Given the description of an element on the screen output the (x, y) to click on. 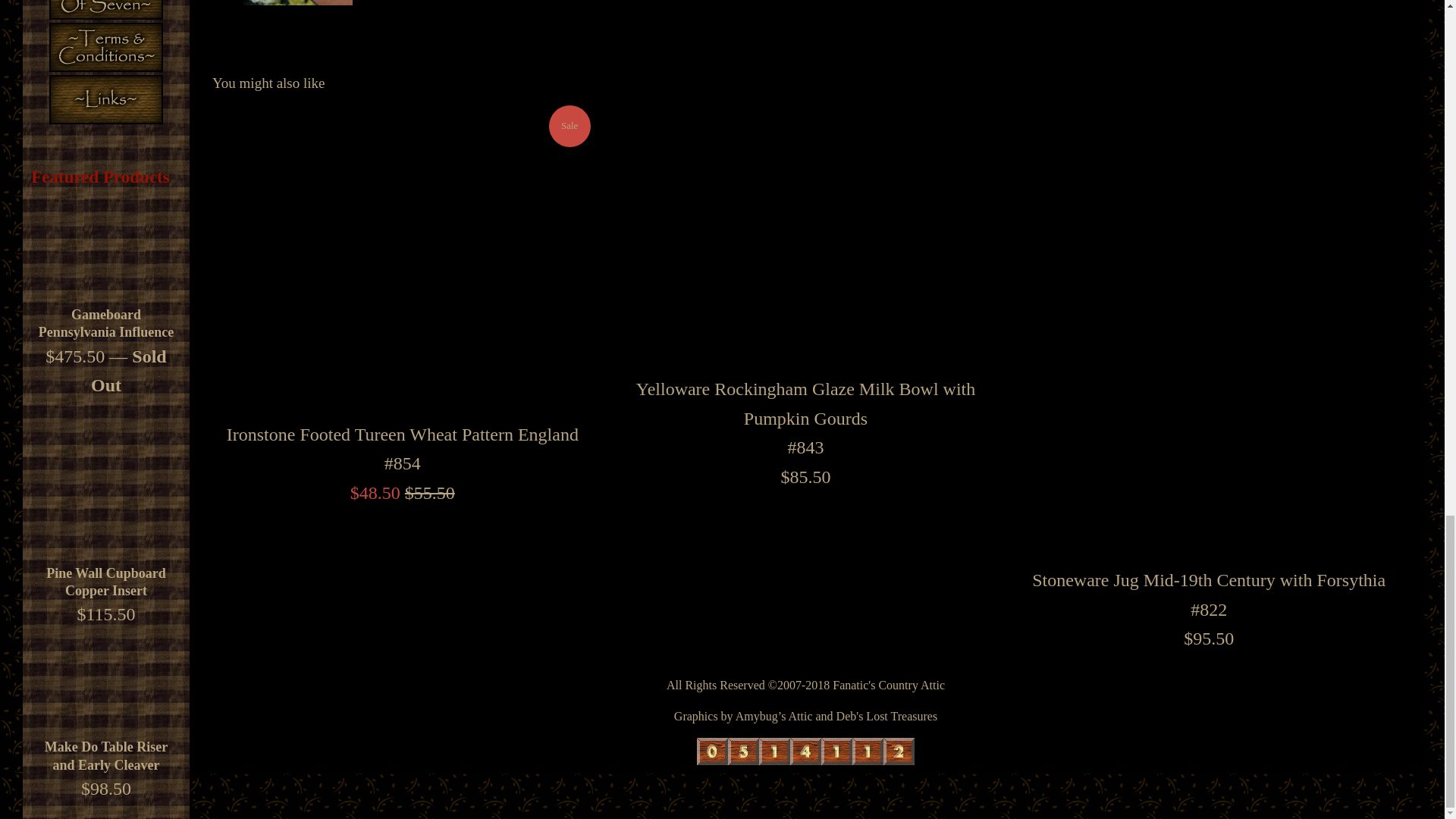
Yelloware Rockingham Glaze Milk Bowl with Pumpkin Gourds (805, 235)
Free Hit Counter (805, 750)
Pine Wall Cupboard Copper Insert (105, 581)
Ironstone Footed Tureen Wheat Pattern England (402, 257)
Make Do Table Riser and Early Cleaver (106, 755)
Make Do Table Riser and Early Cleaver (105, 680)
Gameboard Pennsylvania Influence (105, 248)
Gameboard Pennsylvania Influence (106, 323)
